Given the description of an element on the screen output the (x, y) to click on. 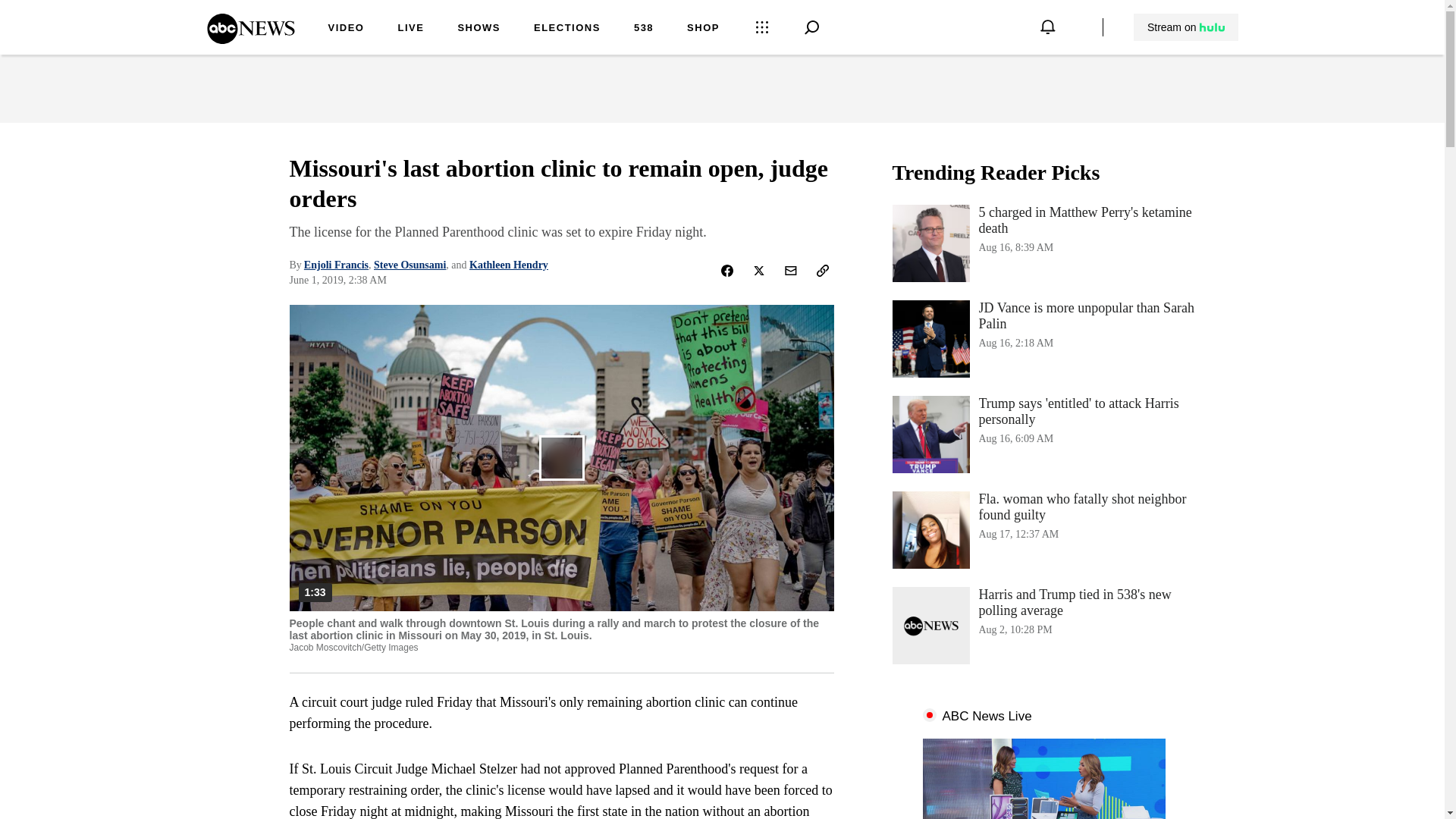
Stream on (1185, 27)
Stream on (1186, 26)
SHOWS (478, 28)
Kathleen Hendry (1043, 242)
ELECTIONS (508, 265)
ABC News (566, 28)
538 (250, 38)
